Given the description of an element on the screen output the (x, y) to click on. 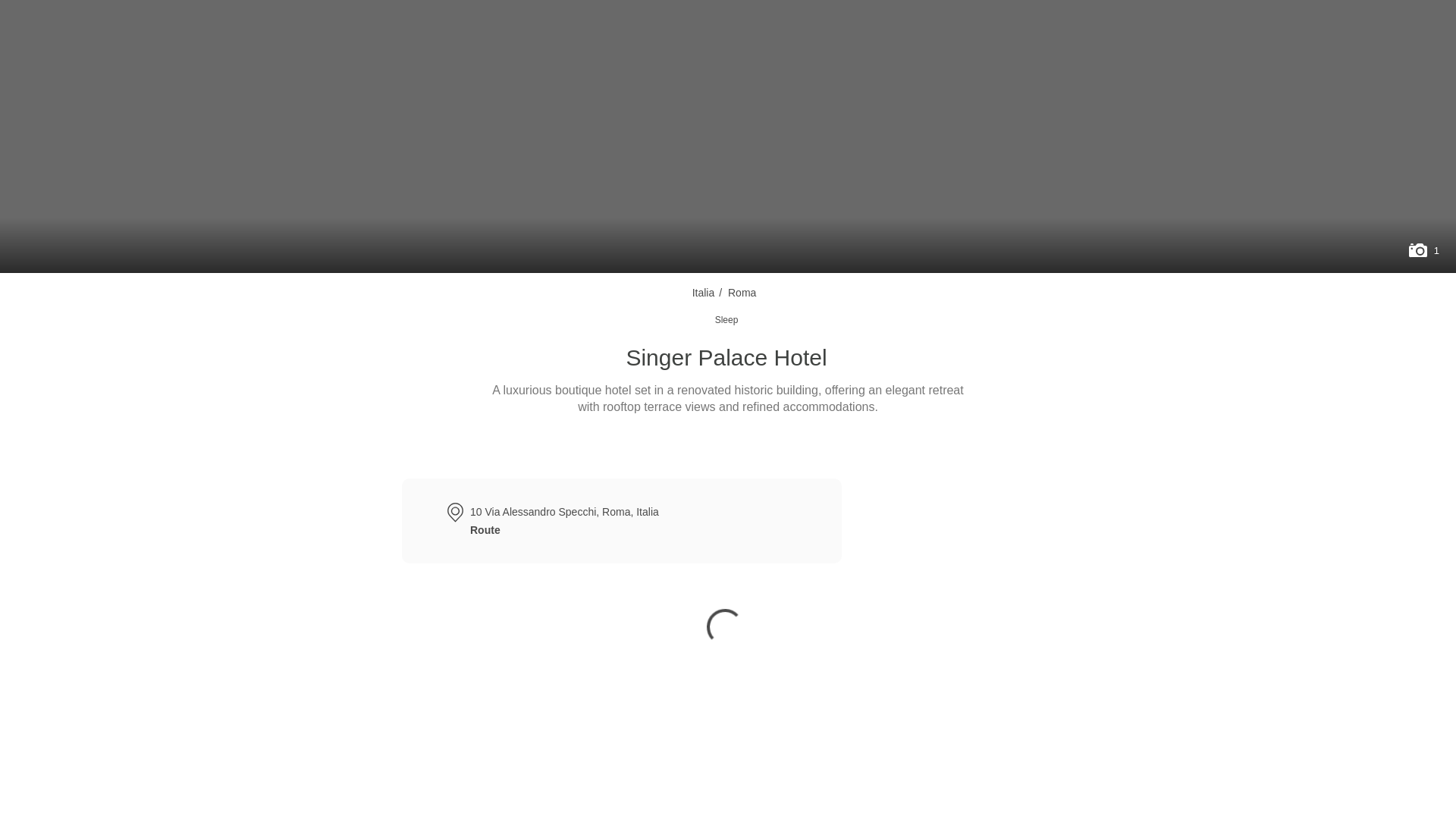
1 (1423, 250)
Route (652, 446)
Route (485, 530)
Save (777, 446)
